Given the description of an element on the screen output the (x, y) to click on. 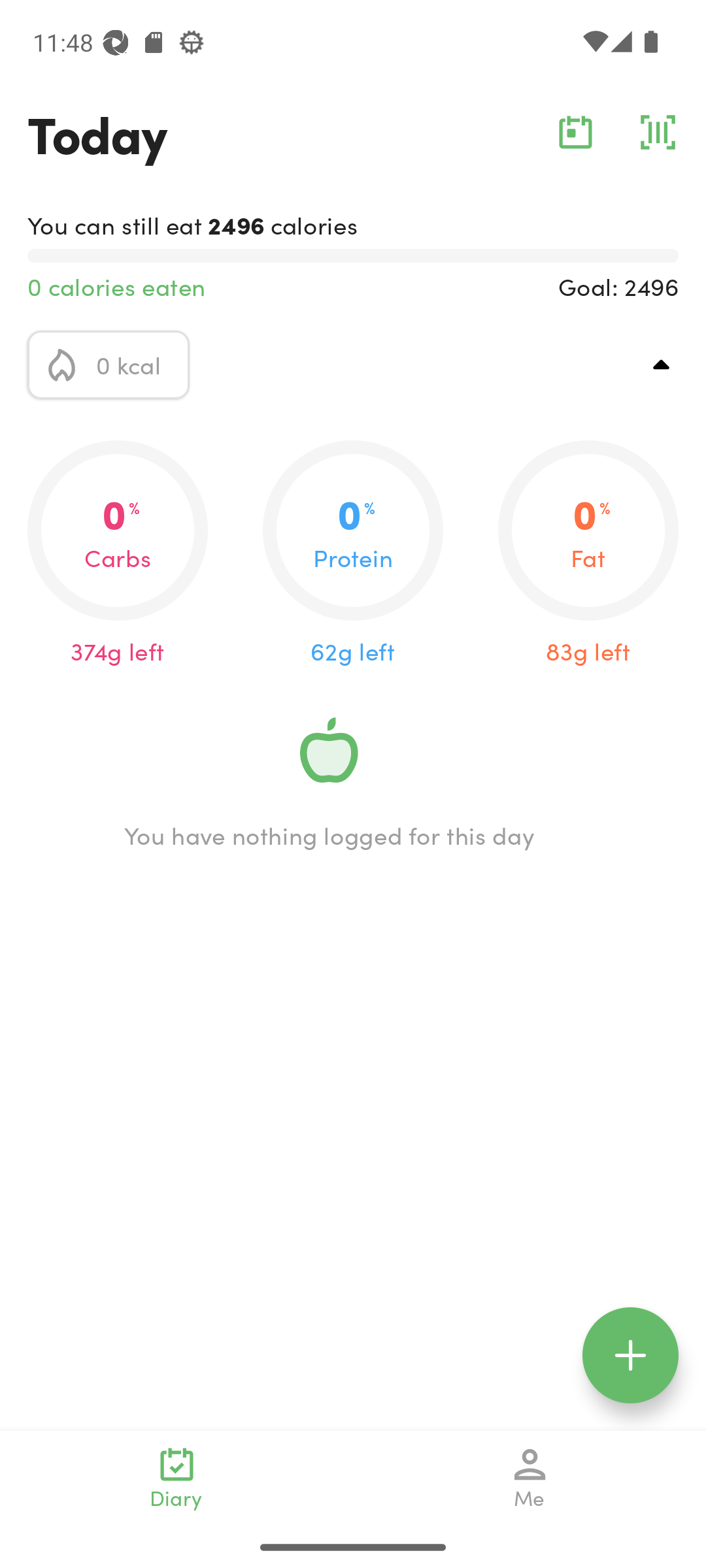
calendar_action (575, 132)
barcode_action (658, 132)
calorie_icon 0 kcal (108, 365)
top_right_action (661, 365)
0.0 0 % Carbs 374g left (117, 553)
0.0 0 % Protein 62g left (352, 553)
0.0 0 % Fat 83g left (588, 553)
floating_action_icon (630, 1355)
Me navigation_icon (529, 1478)
